Given the description of an element on the screen output the (x, y) to click on. 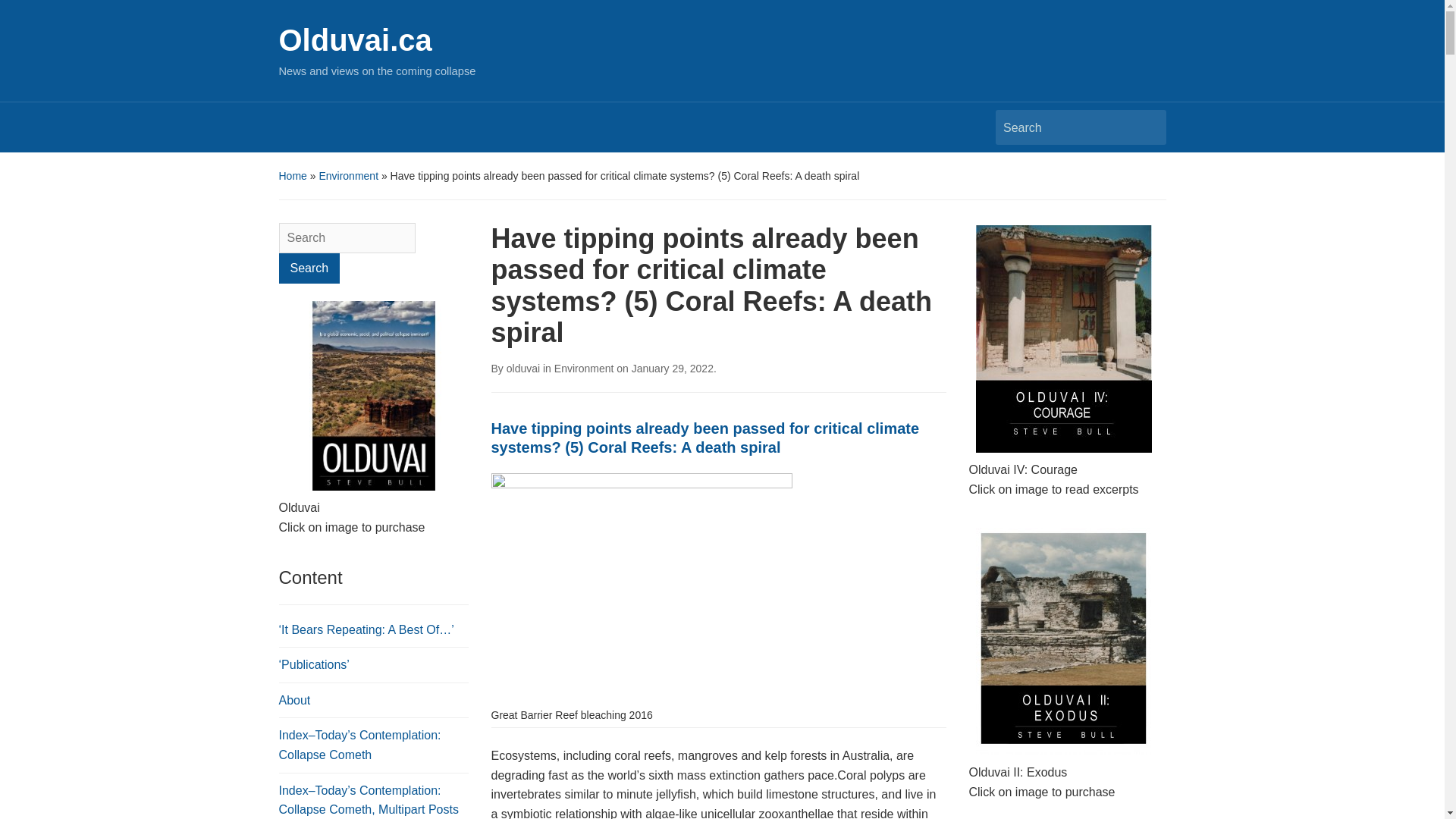
View all posts by olduvai (523, 368)
About (295, 699)
9:21 am (672, 368)
Search (309, 268)
Home (293, 175)
Olduvai.ca - News and views on the coming collapse (355, 39)
Environment (348, 175)
Olduvai.ca (355, 39)
